Given the description of an element on the screen output the (x, y) to click on. 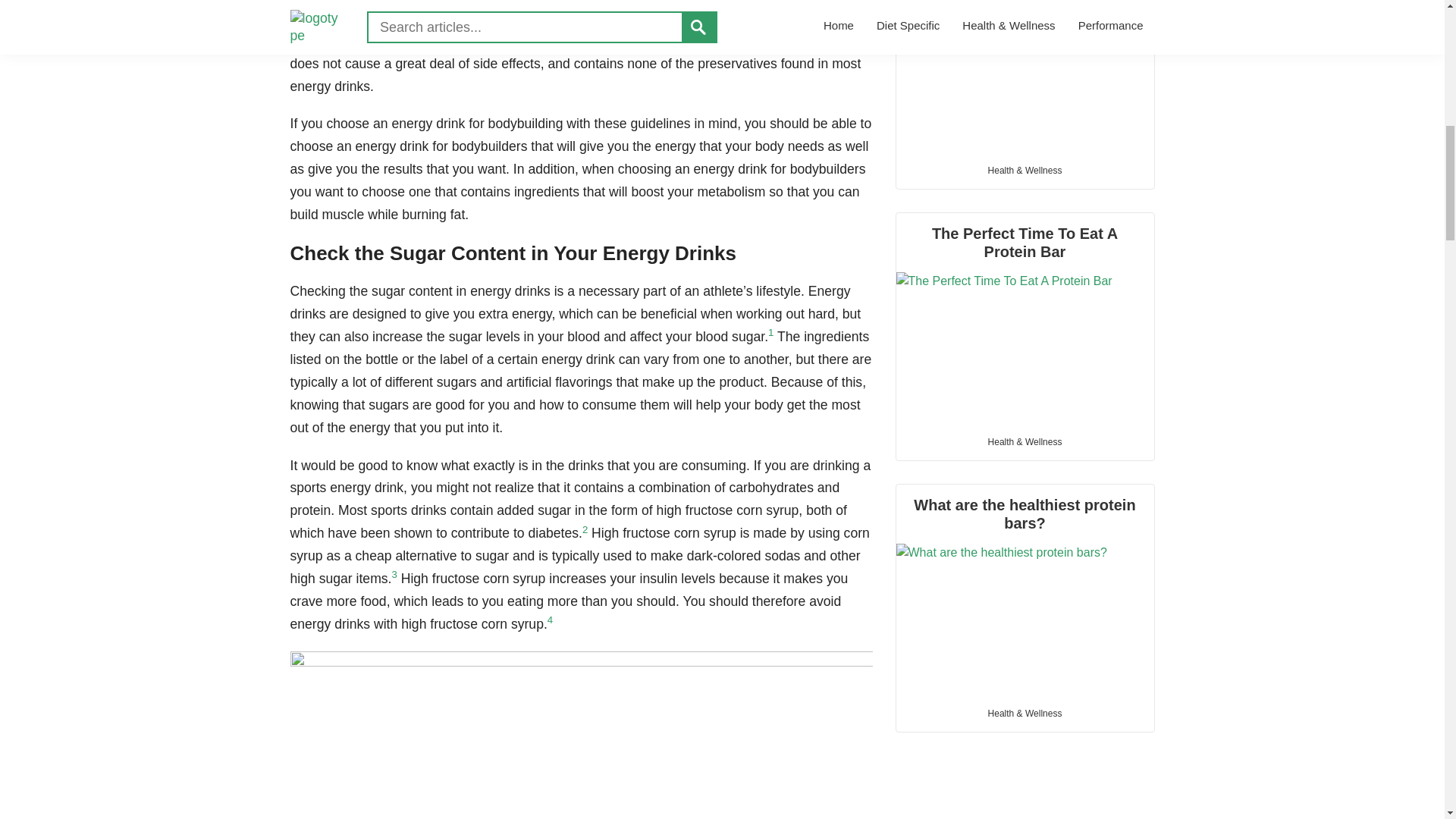
How Many Protein Bars Can I Eat A Day? - Protein Bars (1025, 76)
How Many Protein Bars Can I Eat A Day? (1025, 76)
The Perfect Time To Eat A Protein Bar - Protein Bars (1025, 347)
The Perfect Time To Eat A Protein Bar (1025, 318)
What are the healthiest protein bars? - Protein Bars (1025, 619)
What are the healthiest protein bars? (1025, 589)
